Given the description of an element on the screen output the (x, y) to click on. 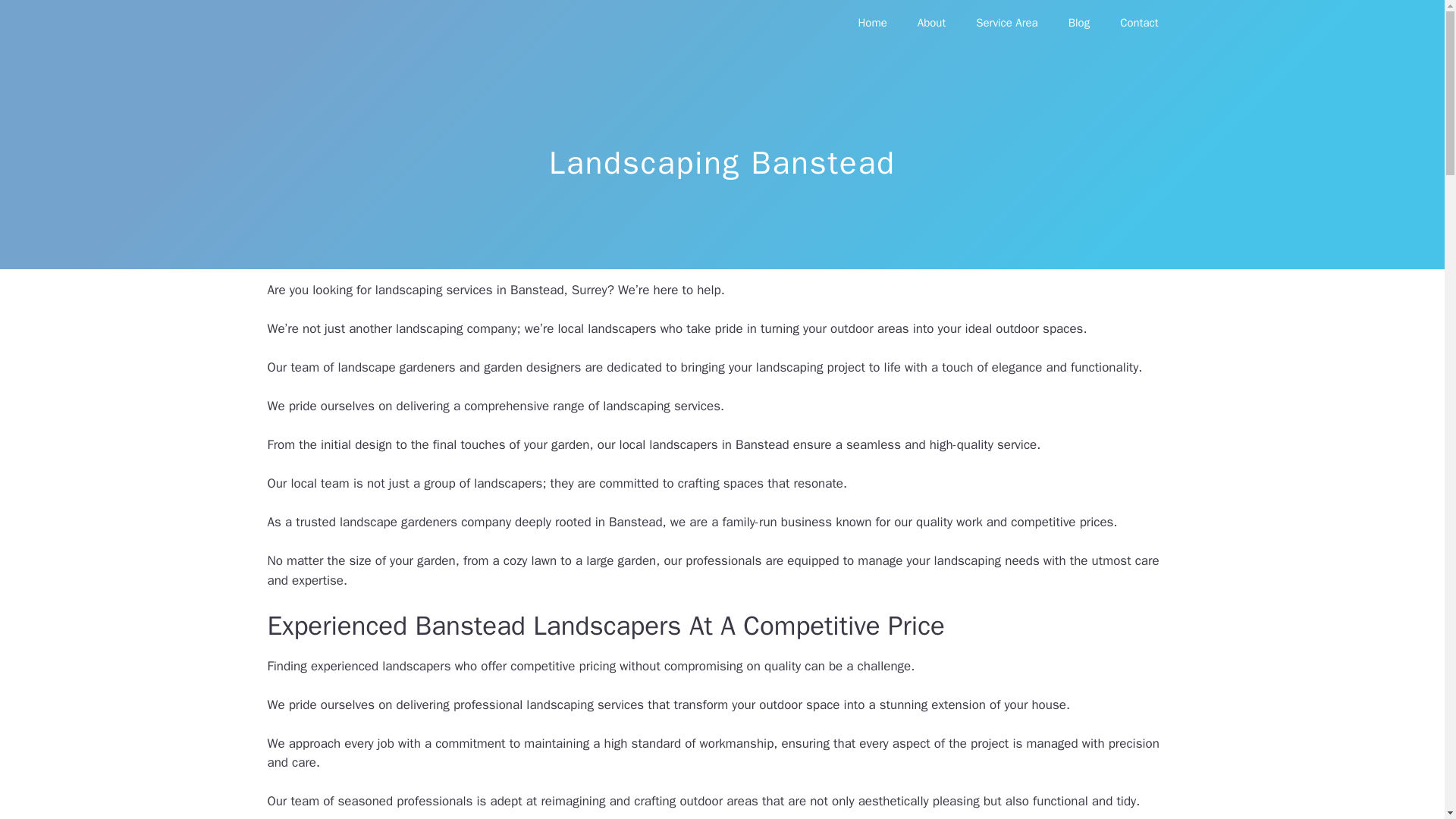
Service Area (1006, 22)
About (931, 22)
Blog (1078, 22)
Contact (1139, 22)
Home (872, 22)
